Given the description of an element on the screen output the (x, y) to click on. 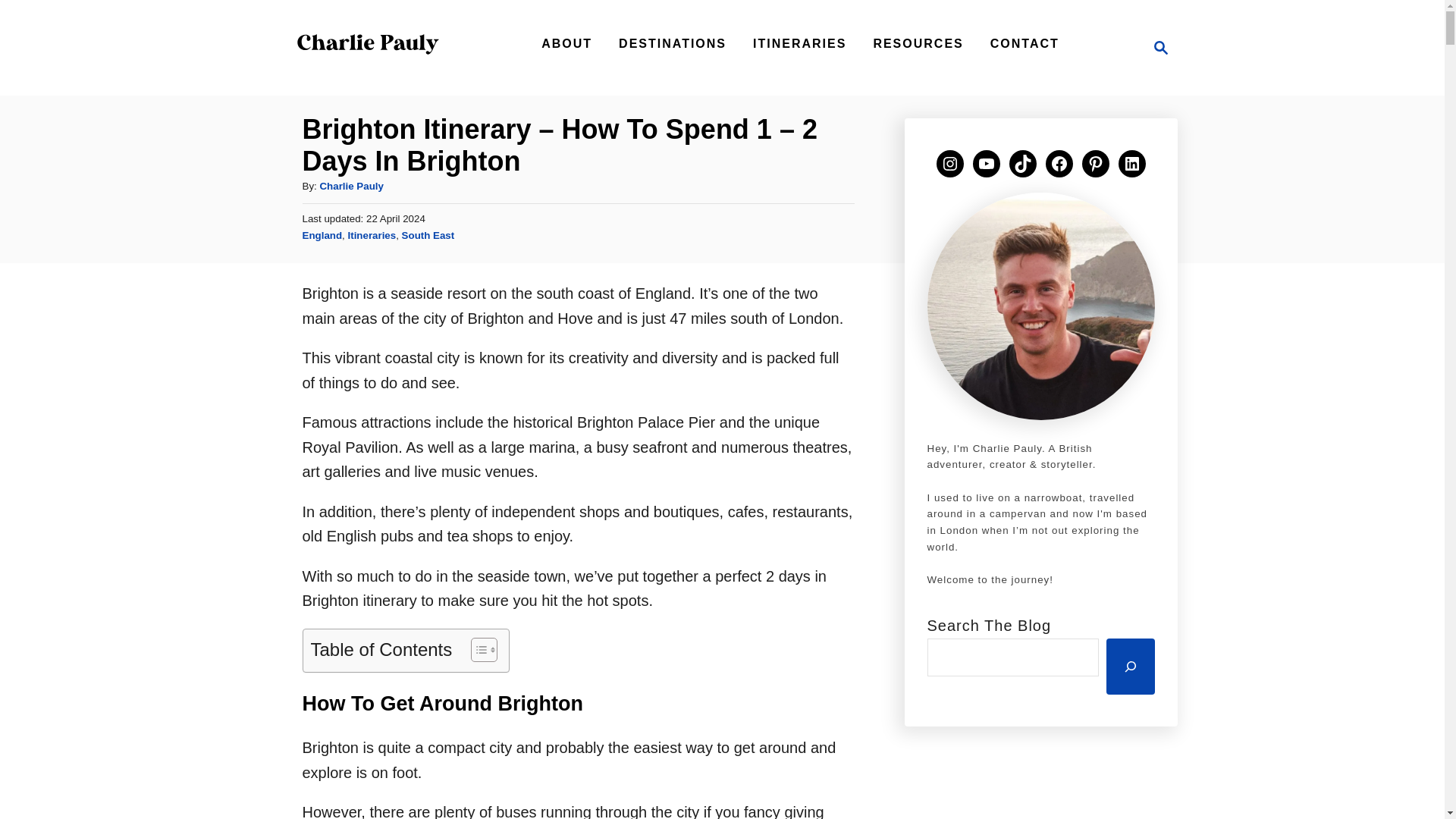
Magnifying Glass (1155, 47)
ABOUT (1160, 47)
Charlie Pauly (566, 43)
DESTINATIONS (367, 67)
